Given the description of an element on the screen output the (x, y) to click on. 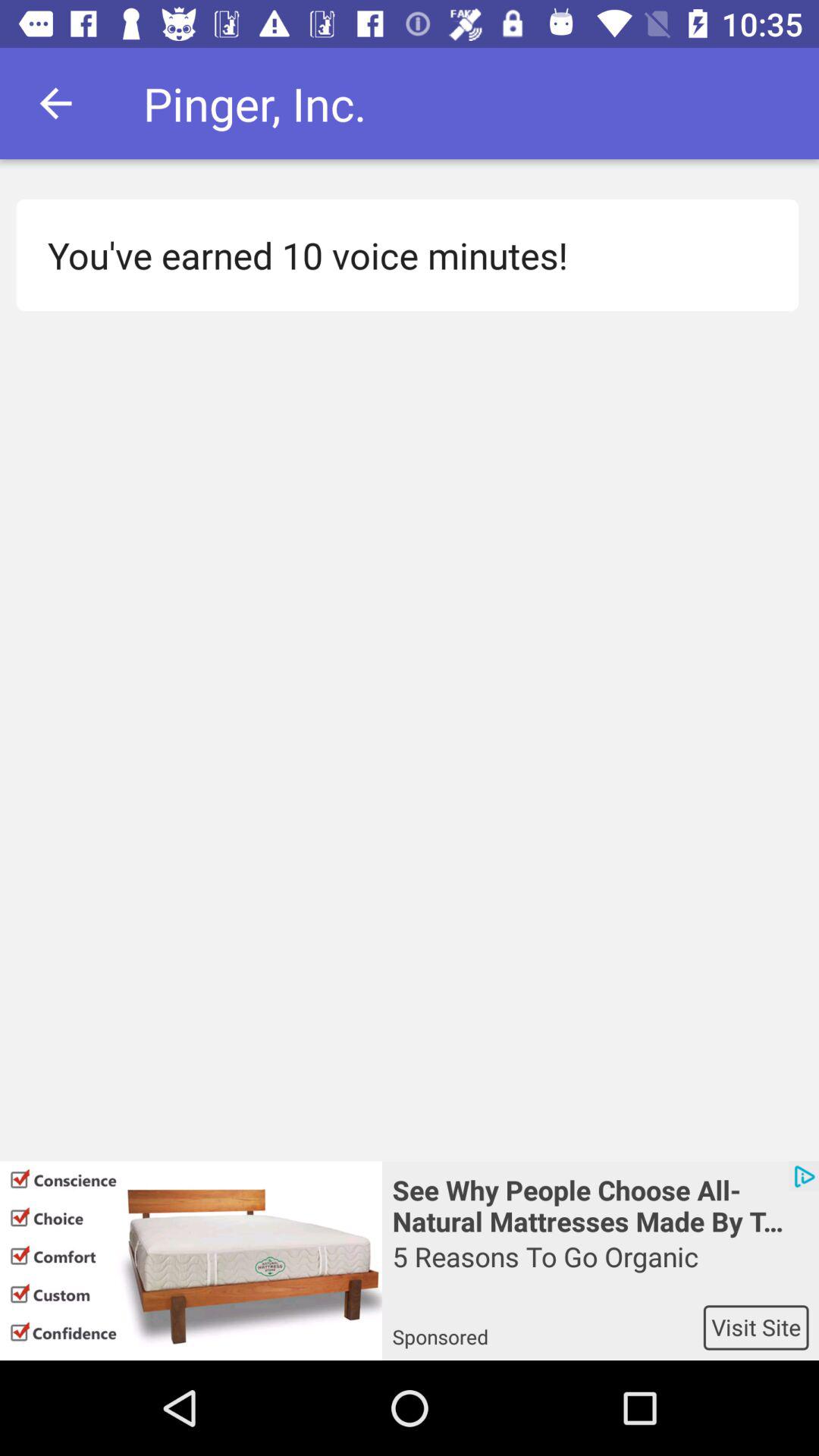
press icon below the 5 reasons to icon (755, 1327)
